Given the description of an element on the screen output the (x, y) to click on. 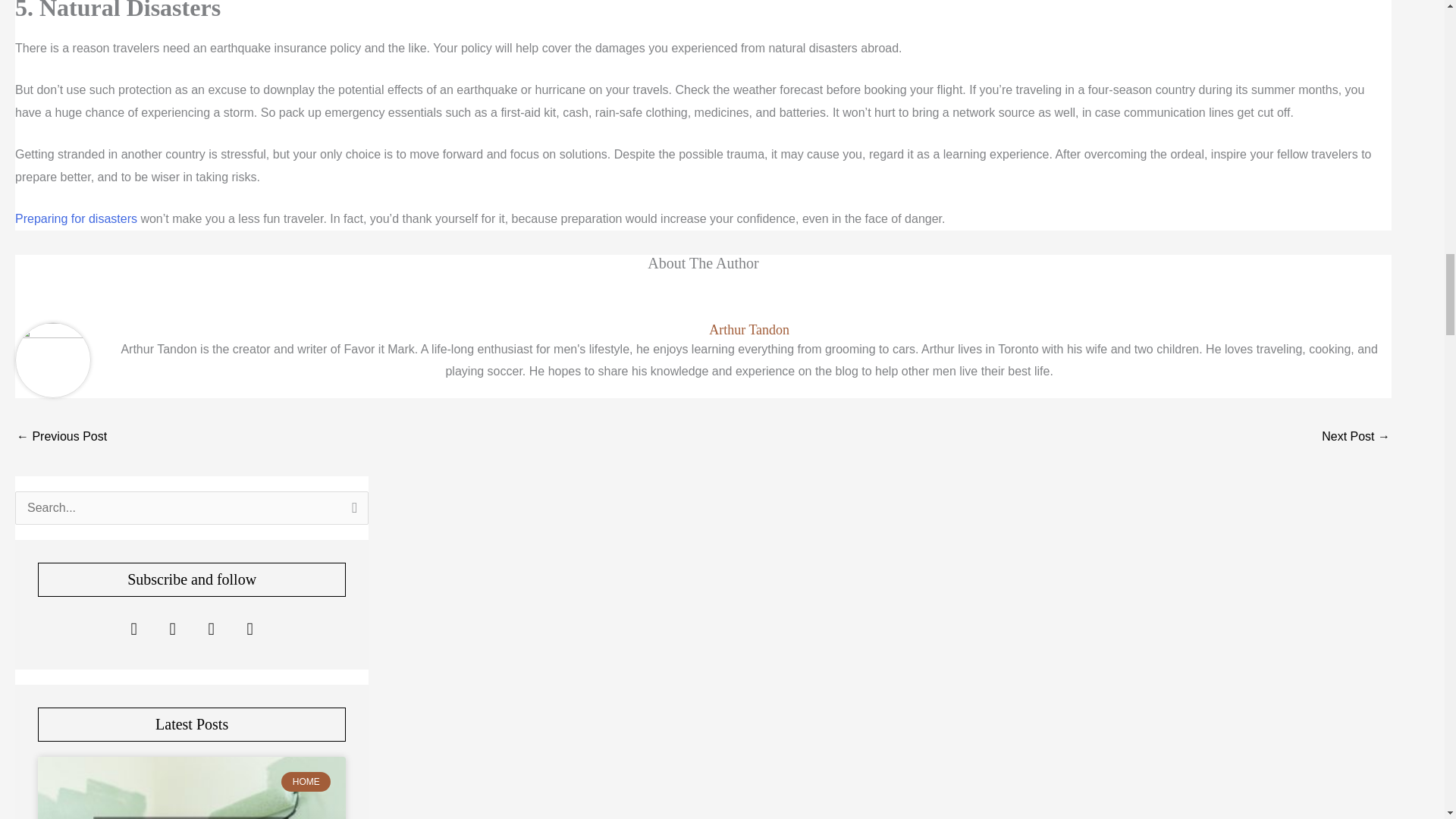
Google-plus (210, 629)
Facebook (133, 629)
Hazards to Consider When Fixing Vehicles at Your Shop (1356, 438)
Tumblr (249, 629)
3 Backyard Renovation Tips for Homeowners (61, 438)
Twitter (172, 629)
Preparing for disasters (75, 218)
Arthur Tandon (748, 330)
